Given the description of an element on the screen output the (x, y) to click on. 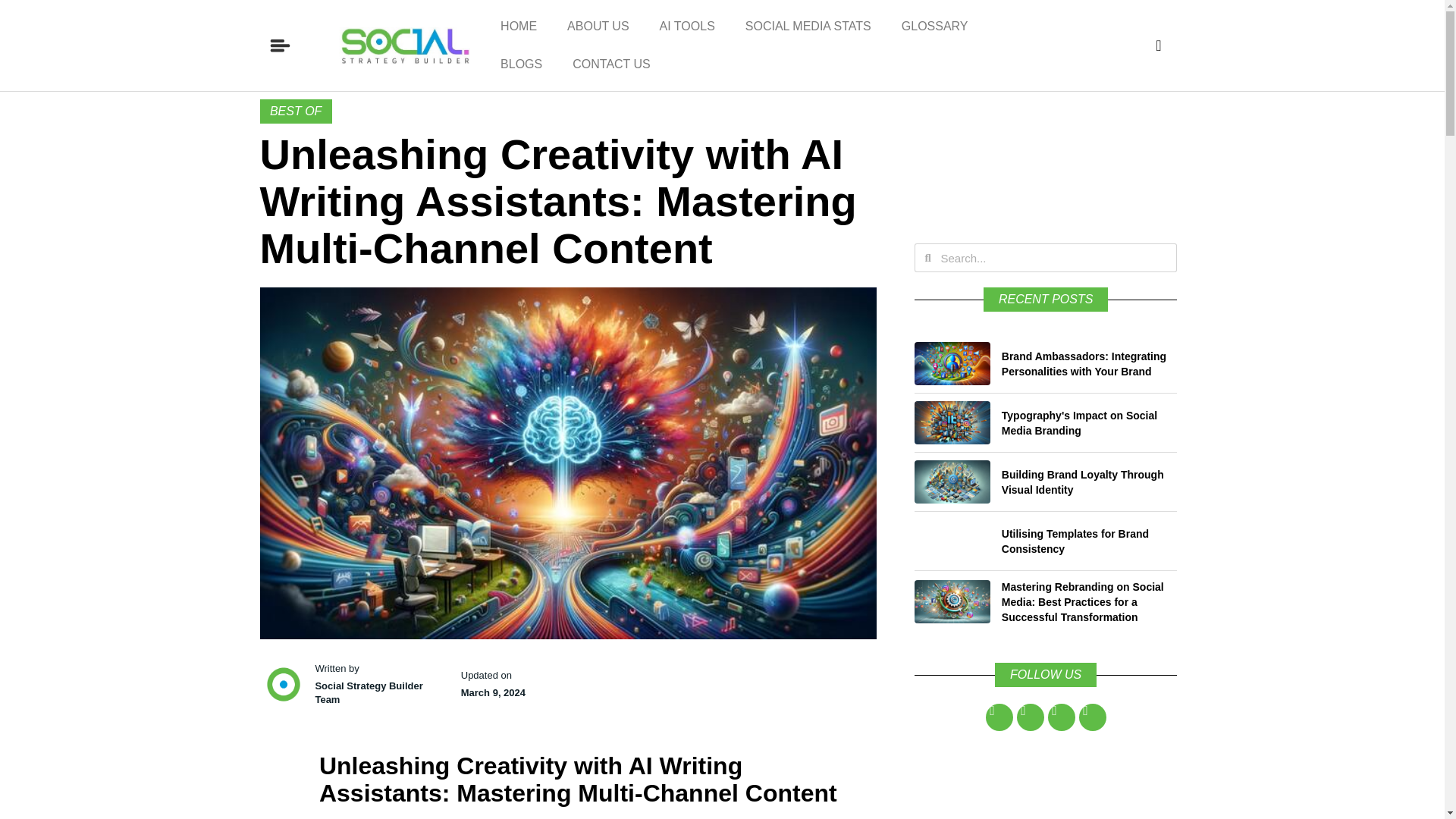
SOCIAL MEDIA STATS (808, 26)
Social Strategy Builder Team (379, 692)
GLOSSARY (935, 26)
CONTACT US (611, 64)
March 9, 2024 (493, 693)
RECENT POSTS (1046, 299)
HOME (517, 26)
BEST OF (295, 111)
BLOGS (520, 64)
ABOUT US (598, 26)
